Given the description of an element on the screen output the (x, y) to click on. 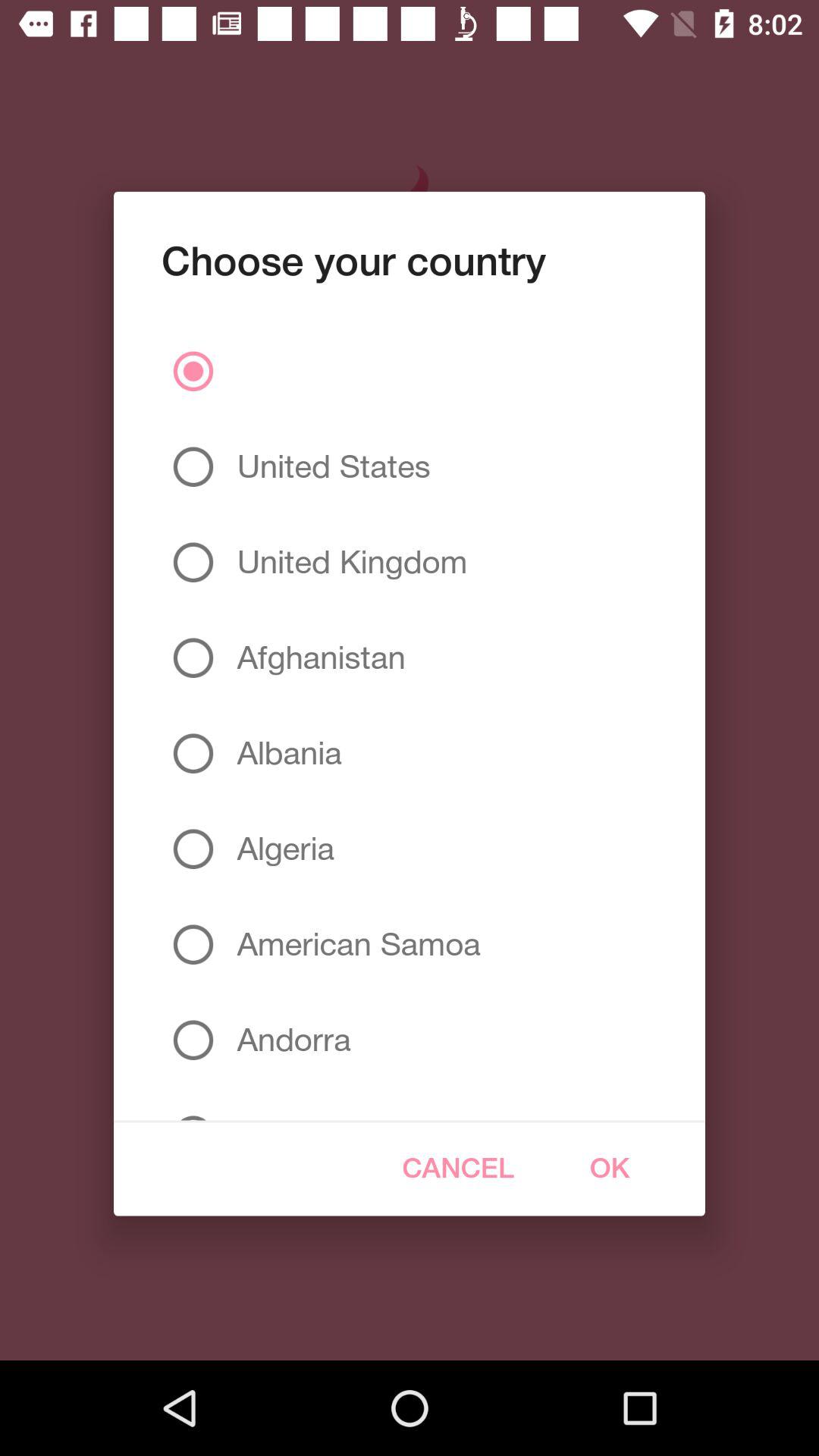
open ok item (609, 1167)
